Given the description of an element on the screen output the (x, y) to click on. 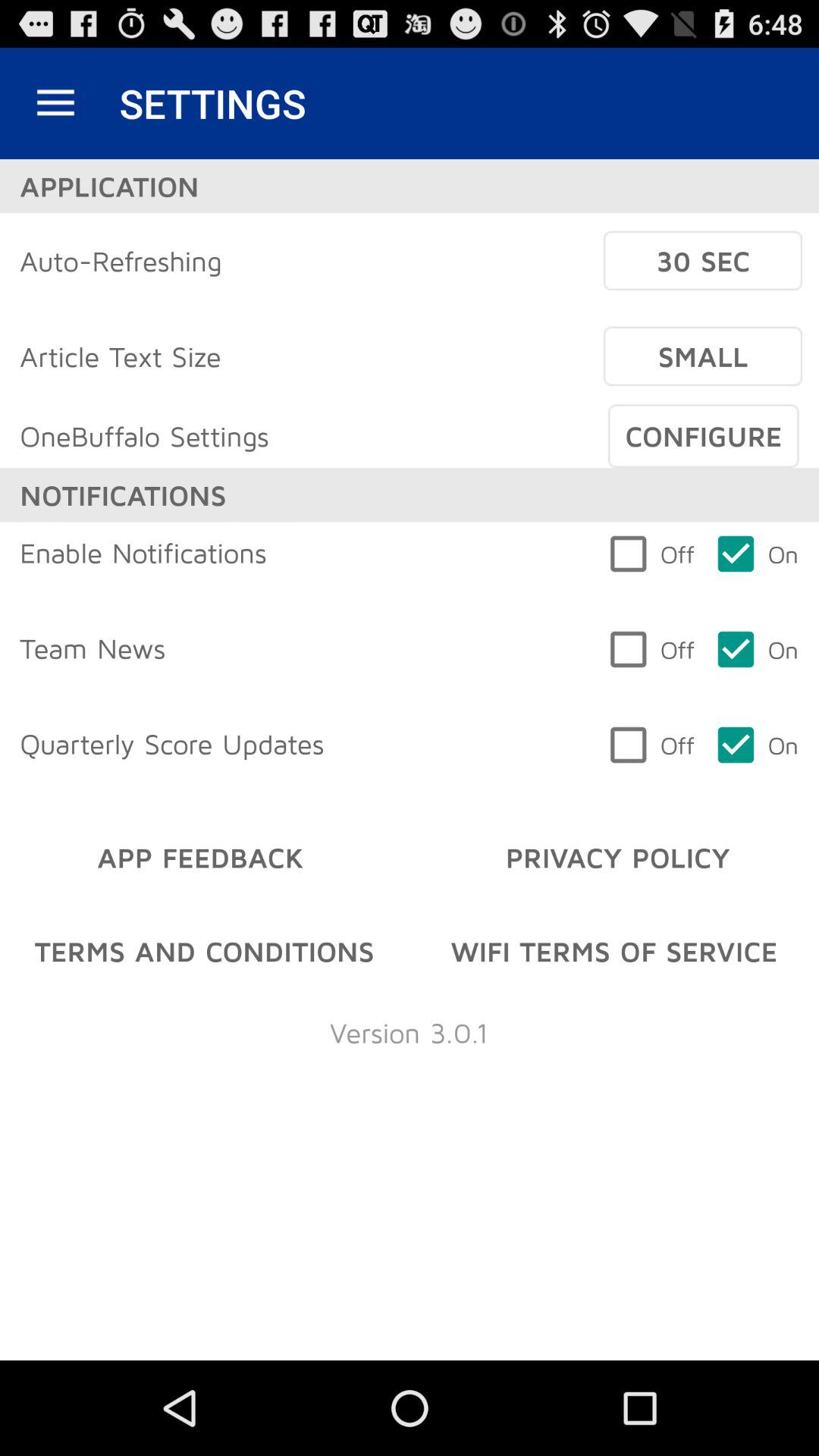
turn on item at the bottom (408, 1032)
